Given the description of an element on the screen output the (x, y) to click on. 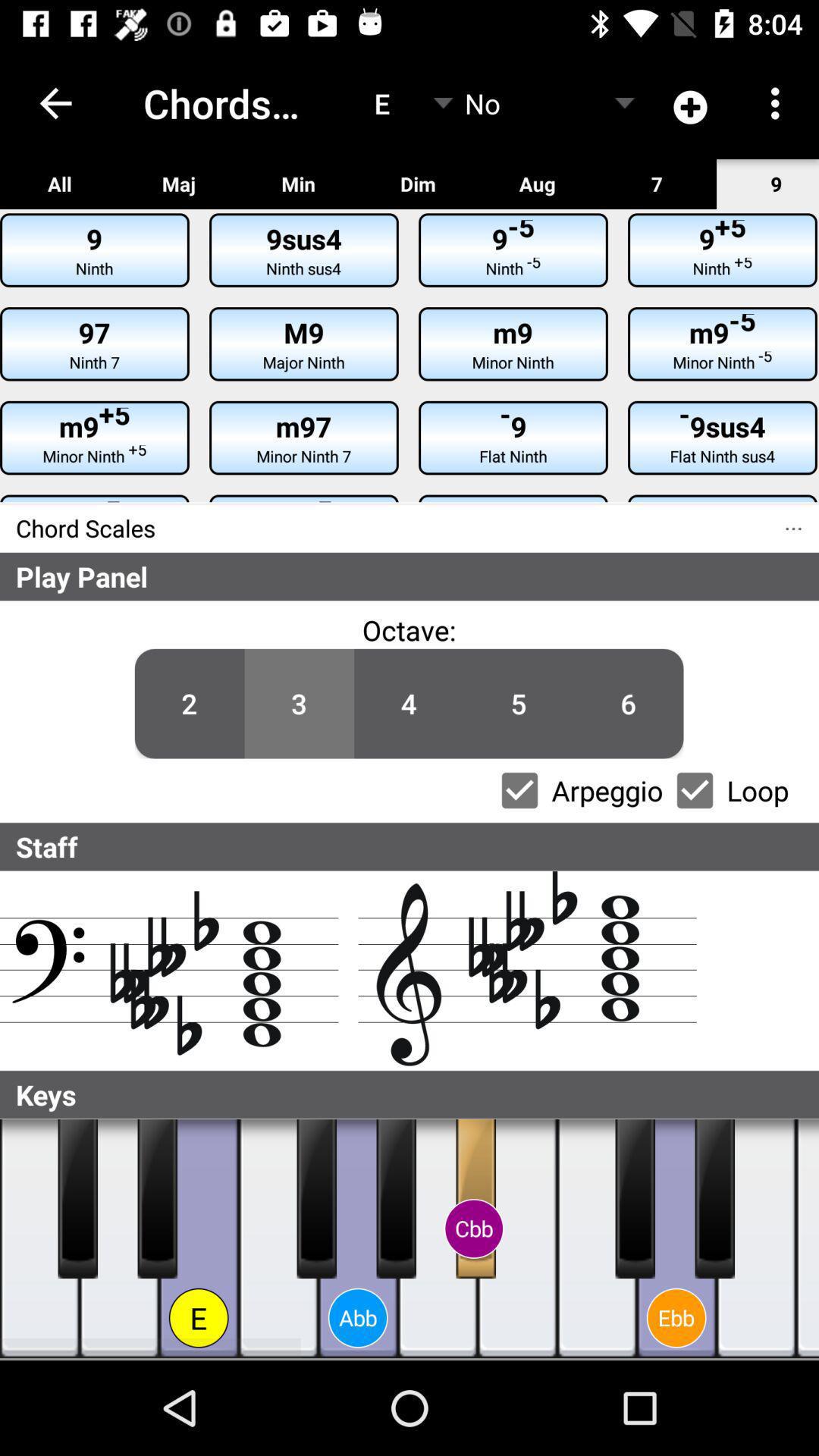
click the cbb key (475, 1198)
